Given the description of an element on the screen output the (x, y) to click on. 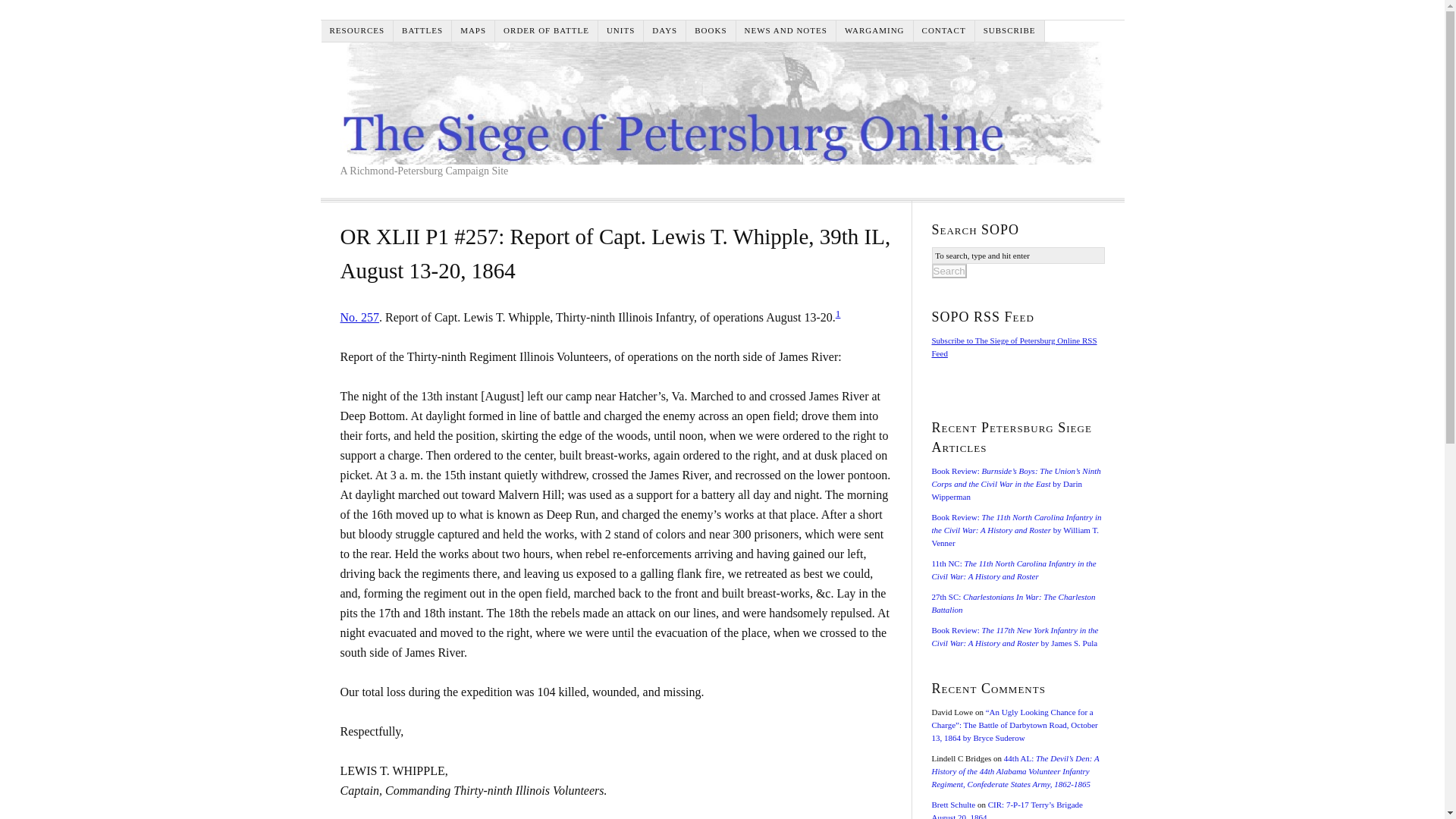
MAPS (473, 30)
BATTLES (422, 30)
To search, type and hit enter (1017, 255)
Search (948, 270)
RESOURCES (357, 30)
